Given the description of an element on the screen output the (x, y) to click on. 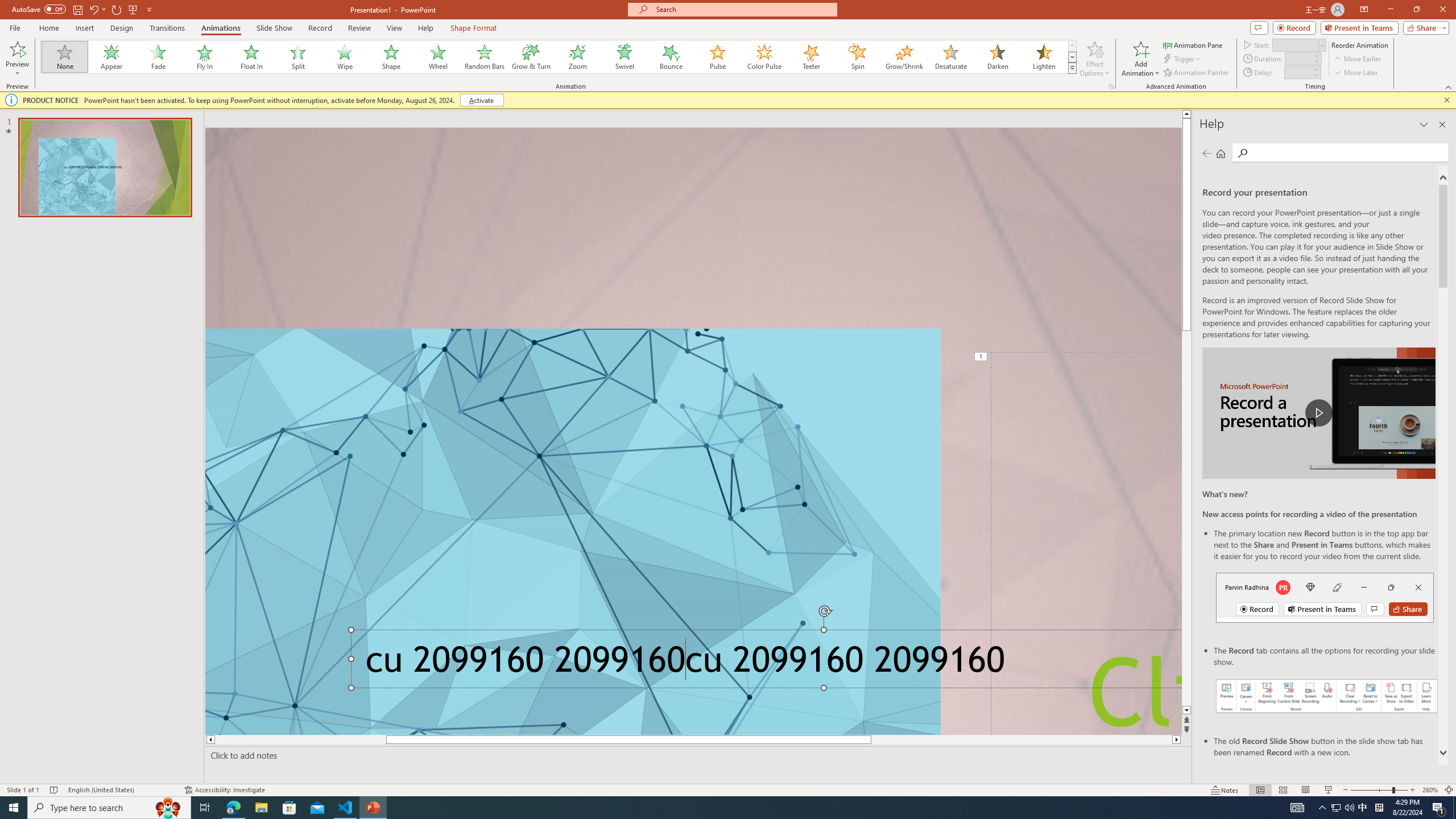
AutomationID: AnimationGallery (558, 56)
Title TextBox (1086, 543)
Preview (17, 48)
Fly In (205, 56)
Animation Painter (1196, 72)
Color Pulse (764, 56)
